Given the description of an element on the screen output the (x, y) to click on. 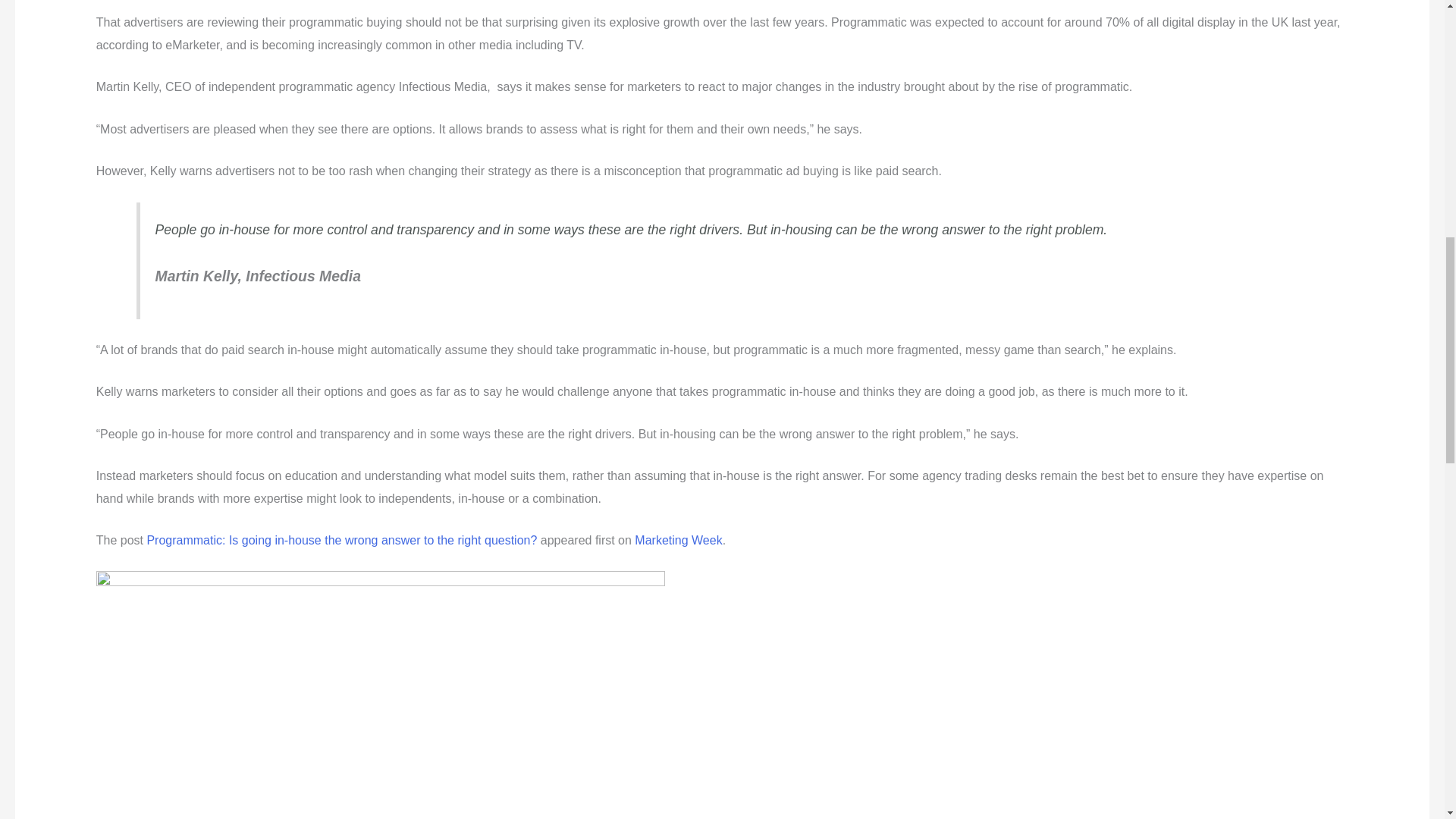
Marketing Week (678, 540)
